Given the description of an element on the screen output the (x, y) to click on. 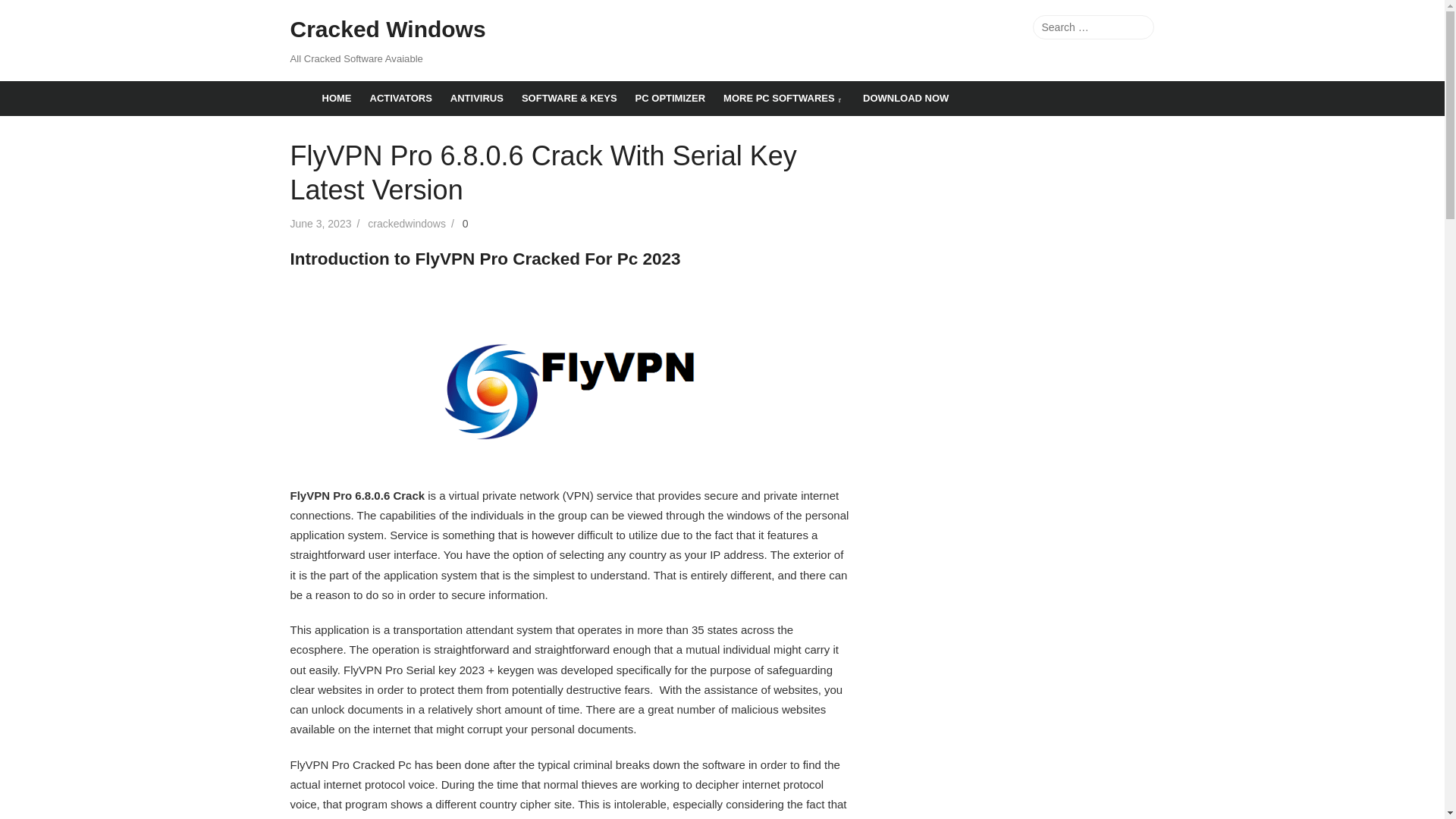
ACTIVATORS (401, 98)
DOWNLOAD NOW (905, 98)
Search (1137, 27)
ANTIVIRUS (476, 98)
MORE PC SOFTWARES (783, 98)
Cracked Windows (386, 29)
HOME (336, 98)
PC OPTIMIZER (670, 98)
Cracked Windows (301, 88)
